Given the description of an element on the screen output the (x, y) to click on. 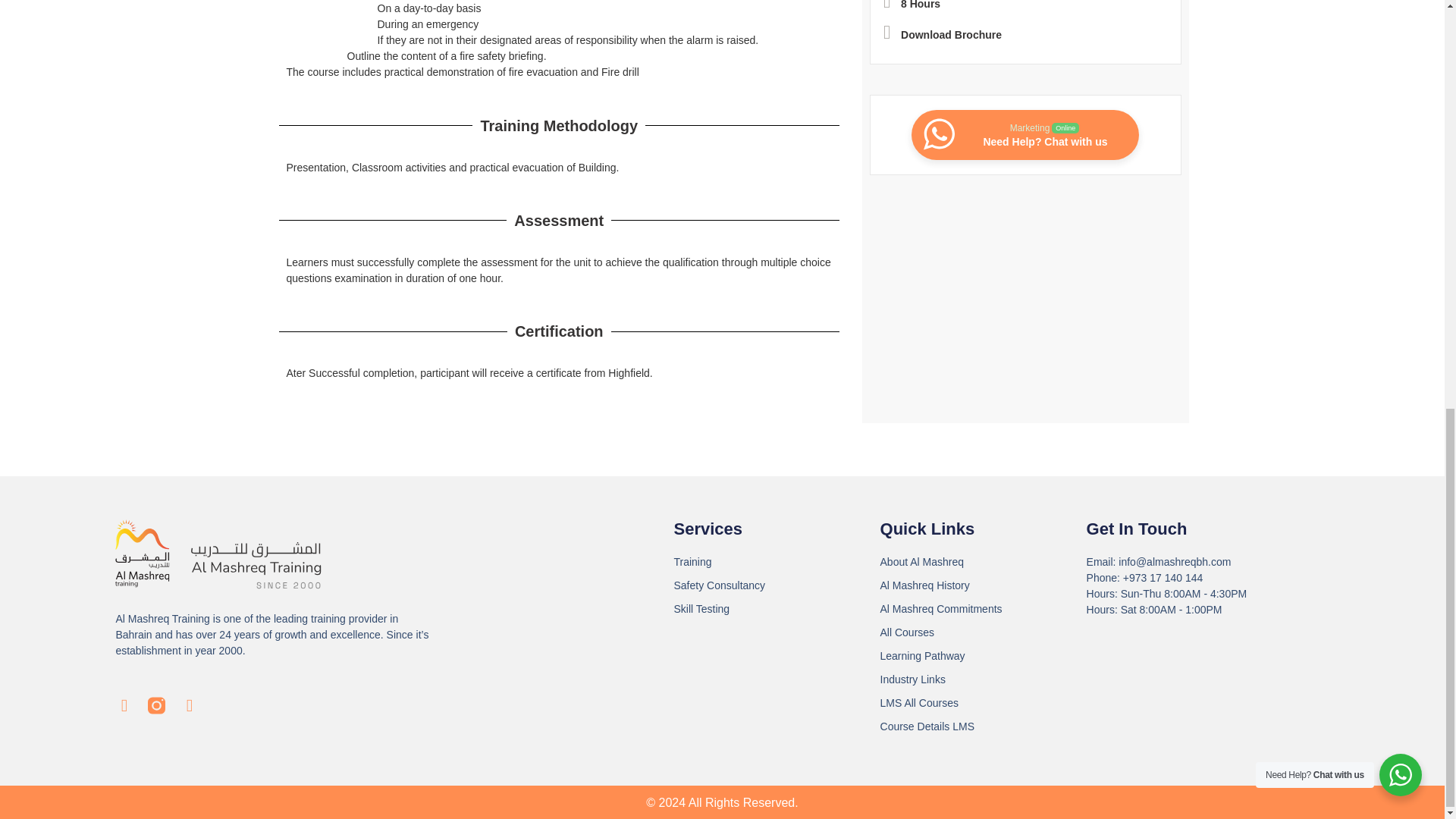
Download Brochure (1024, 134)
